Given the description of an element on the screen output the (x, y) to click on. 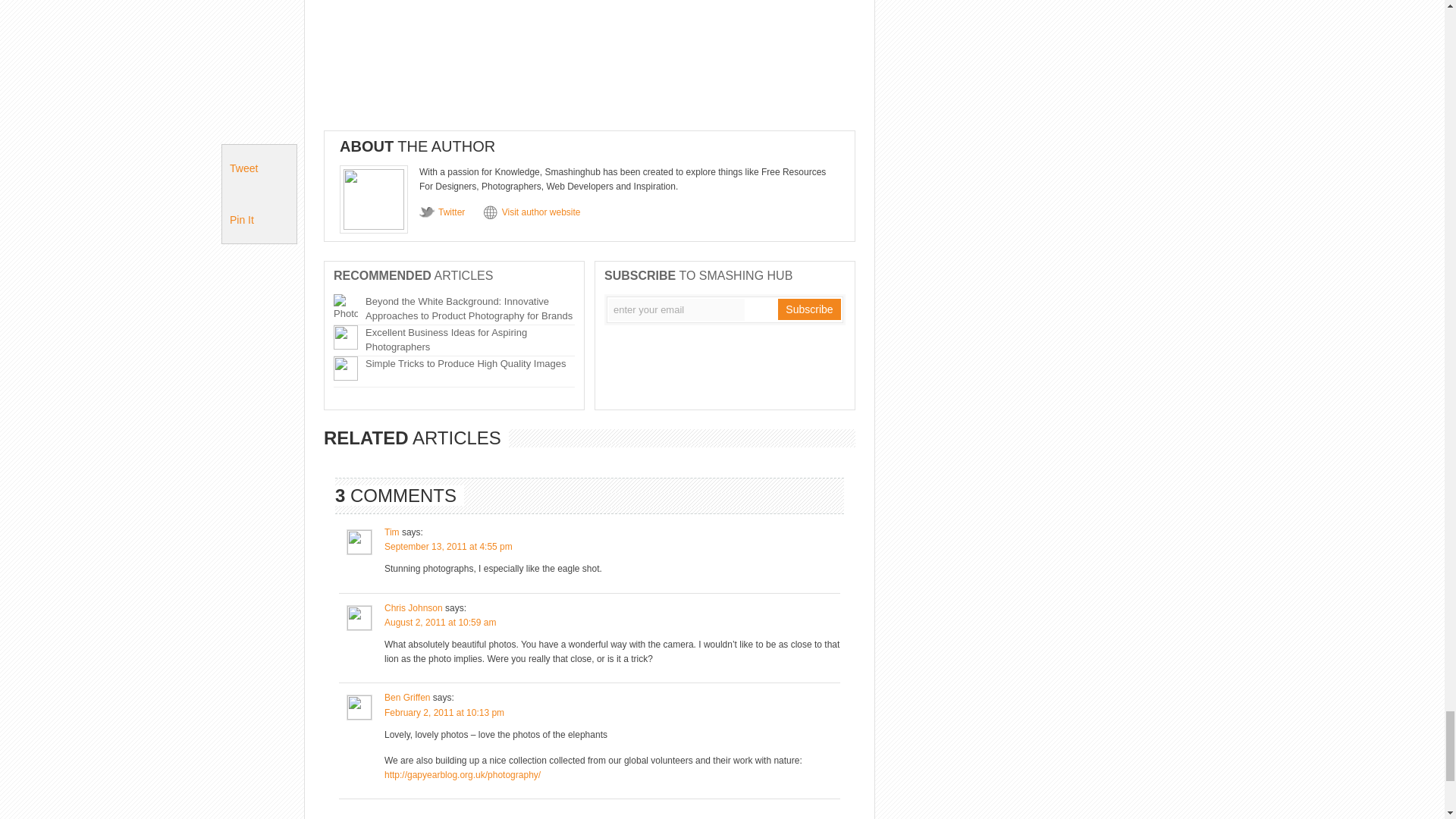
Subscribe (808, 309)
Enter your email (676, 309)
